Given the description of an element on the screen output the (x, y) to click on. 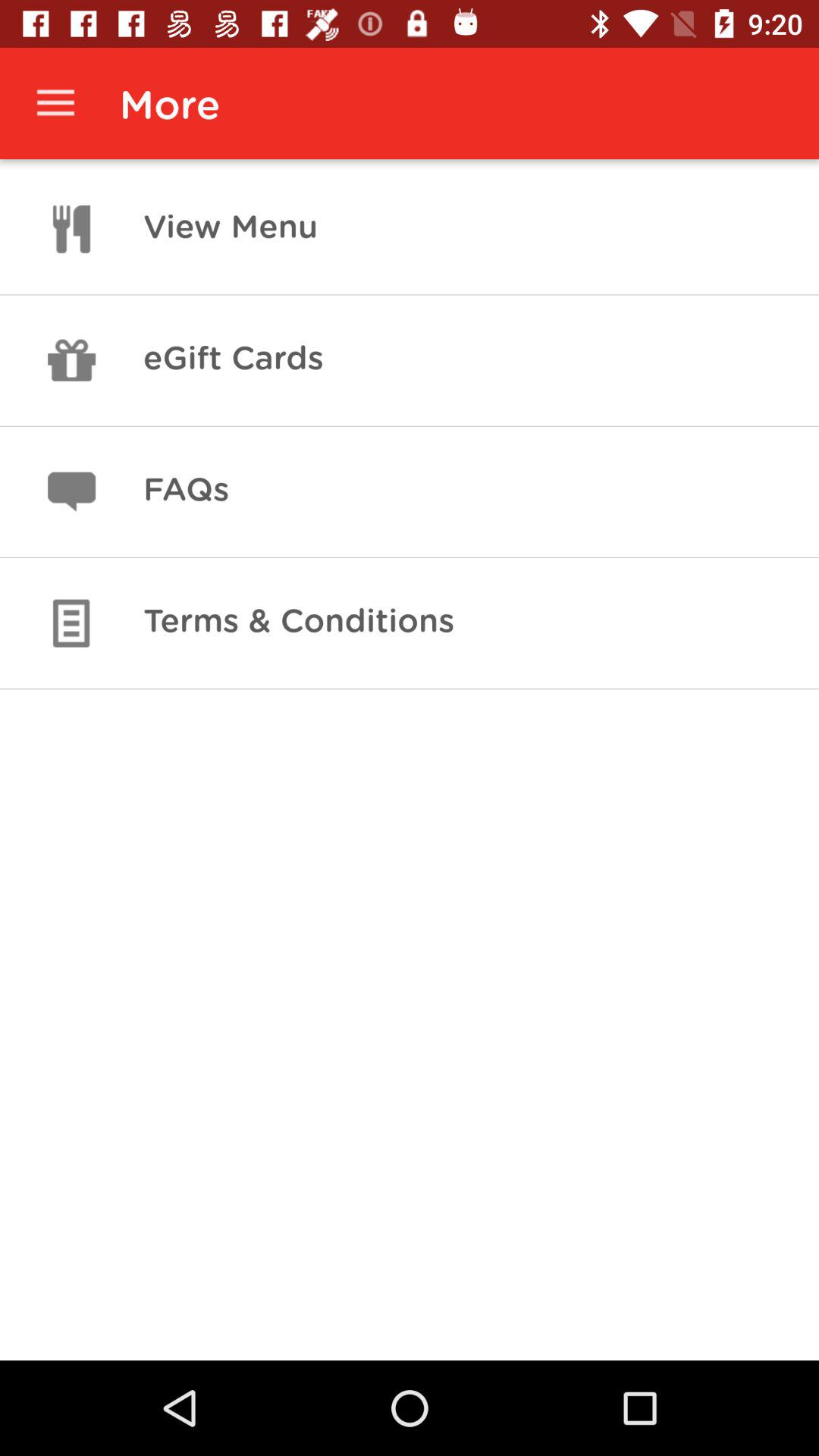
tap the icon below the egift cards item (186, 491)
